Given the description of an element on the screen output the (x, y) to click on. 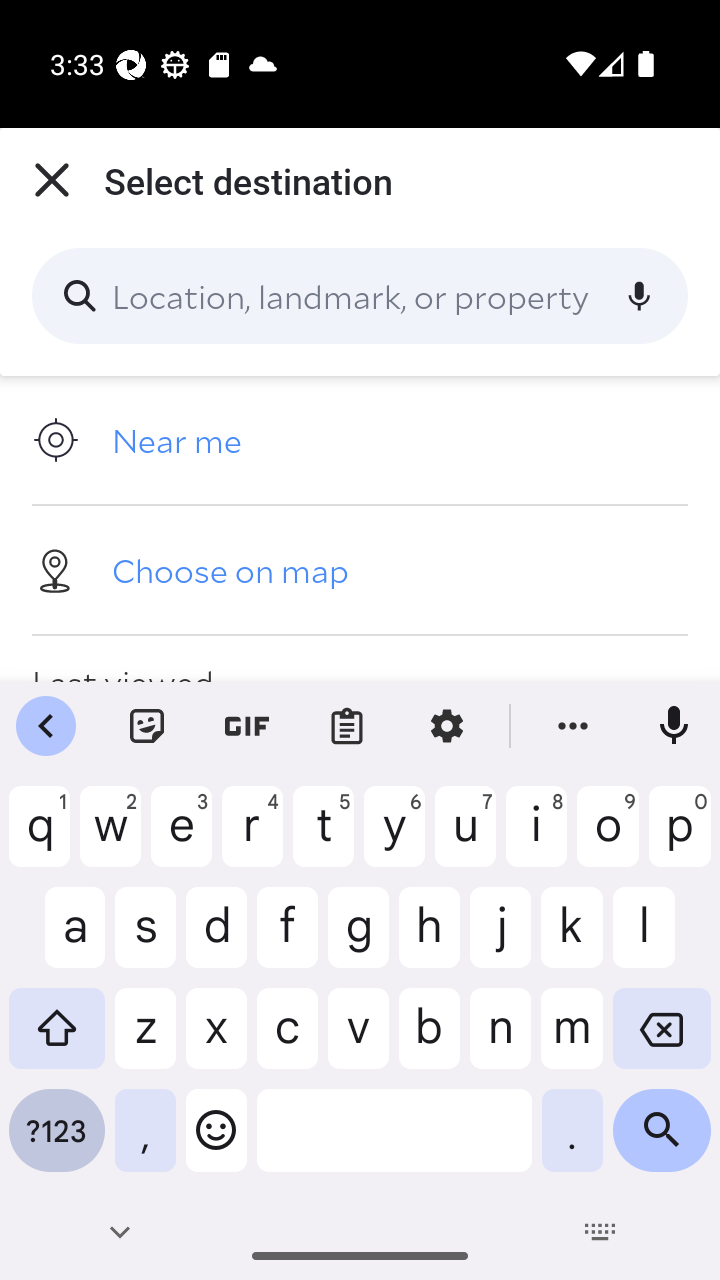
Location, landmark, or property (359, 296)
Near me (360, 440)
Choose on map (360, 569)
